Given the description of an element on the screen output the (x, y) to click on. 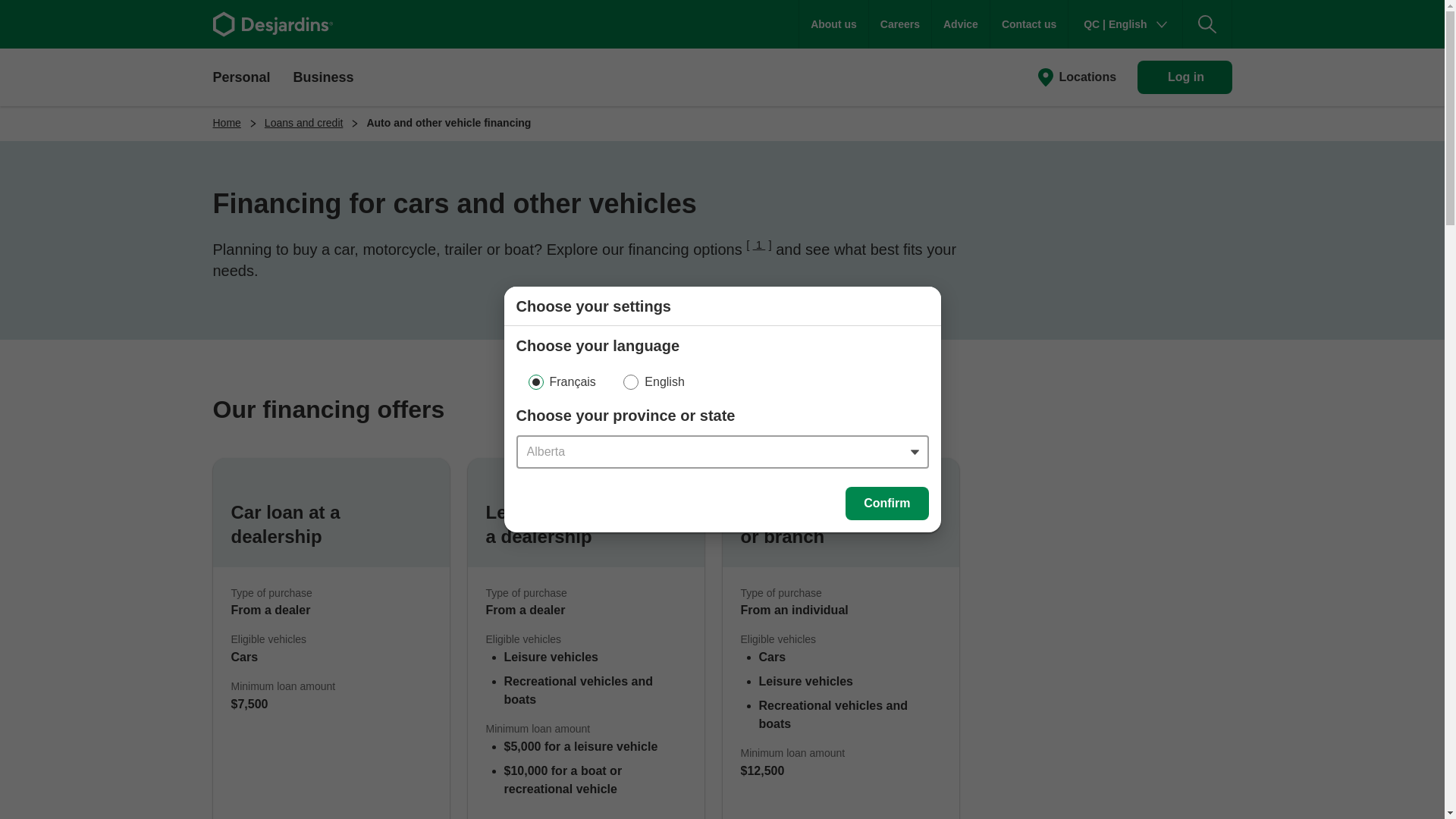
About us (833, 24)
Careers (900, 24)
Search (1206, 24)
Contact us (1028, 24)
Advice (960, 24)
Business (323, 76)
Personal (240, 76)
Locations (1075, 76)
